Given the description of an element on the screen output the (x, y) to click on. 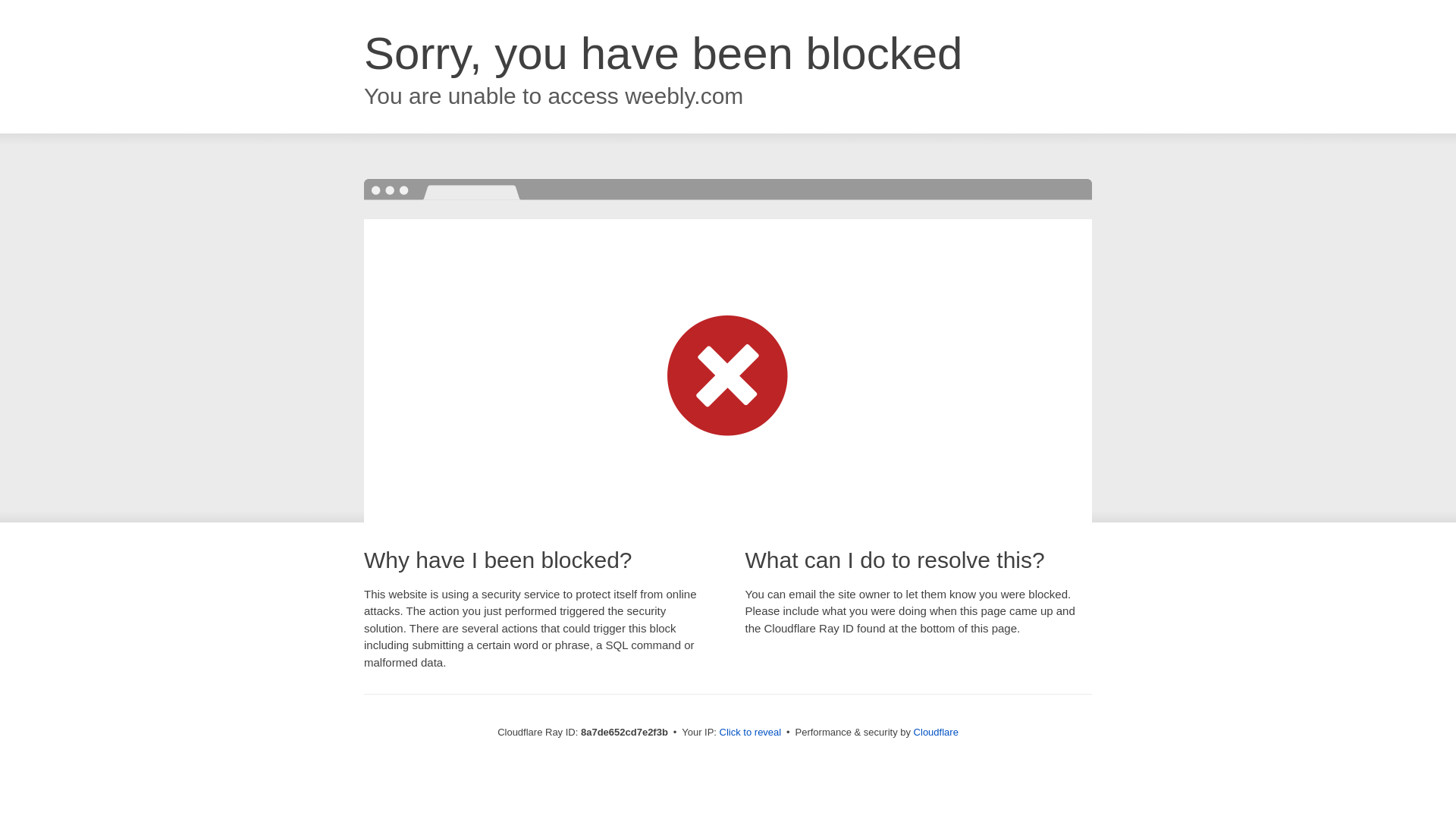
Cloudflare (936, 731)
Click to reveal (750, 732)
